Given the description of an element on the screen output the (x, y) to click on. 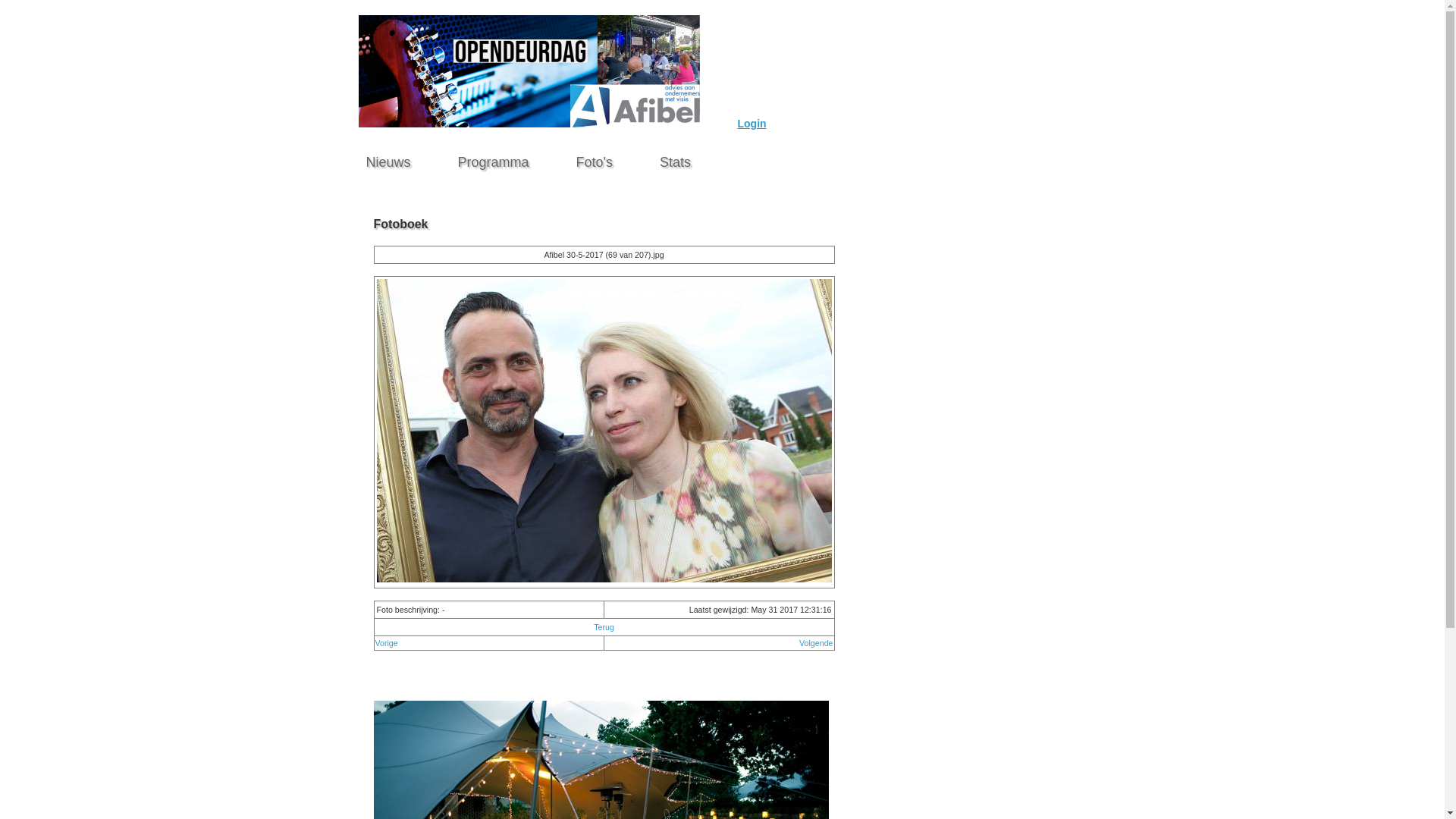
Opendeurdag Afibel Element type: hover (528, 124)
Login Element type: text (751, 123)
Terug Element type: text (603, 626)
Foto's Element type: text (594, 158)
Volgende Element type: text (815, 642)
Stats Element type: text (675, 158)
Register Element type: text (835, 122)
Nieuws Element type: text (387, 158)
Programma Element type: text (493, 158)
Vorige Element type: text (385, 642)
